Given the description of an element on the screen output the (x, y) to click on. 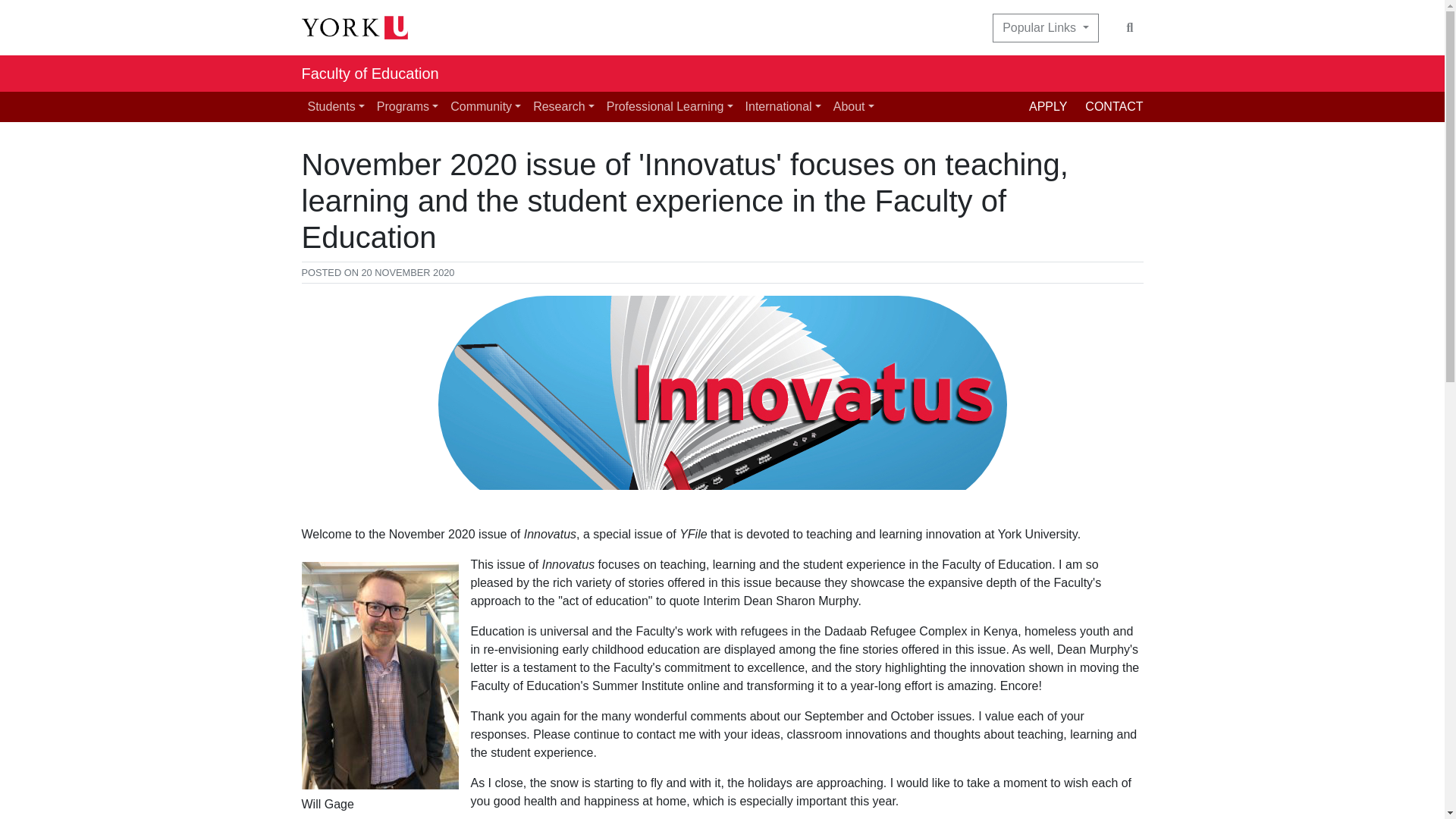
Professional Learning (669, 106)
Faculty of Education (370, 73)
Search (1129, 27)
Programs (407, 106)
Popular Links (1044, 27)
Research (563, 106)
Students (336, 106)
Community (485, 106)
